Given the description of an element on the screen output the (x, y) to click on. 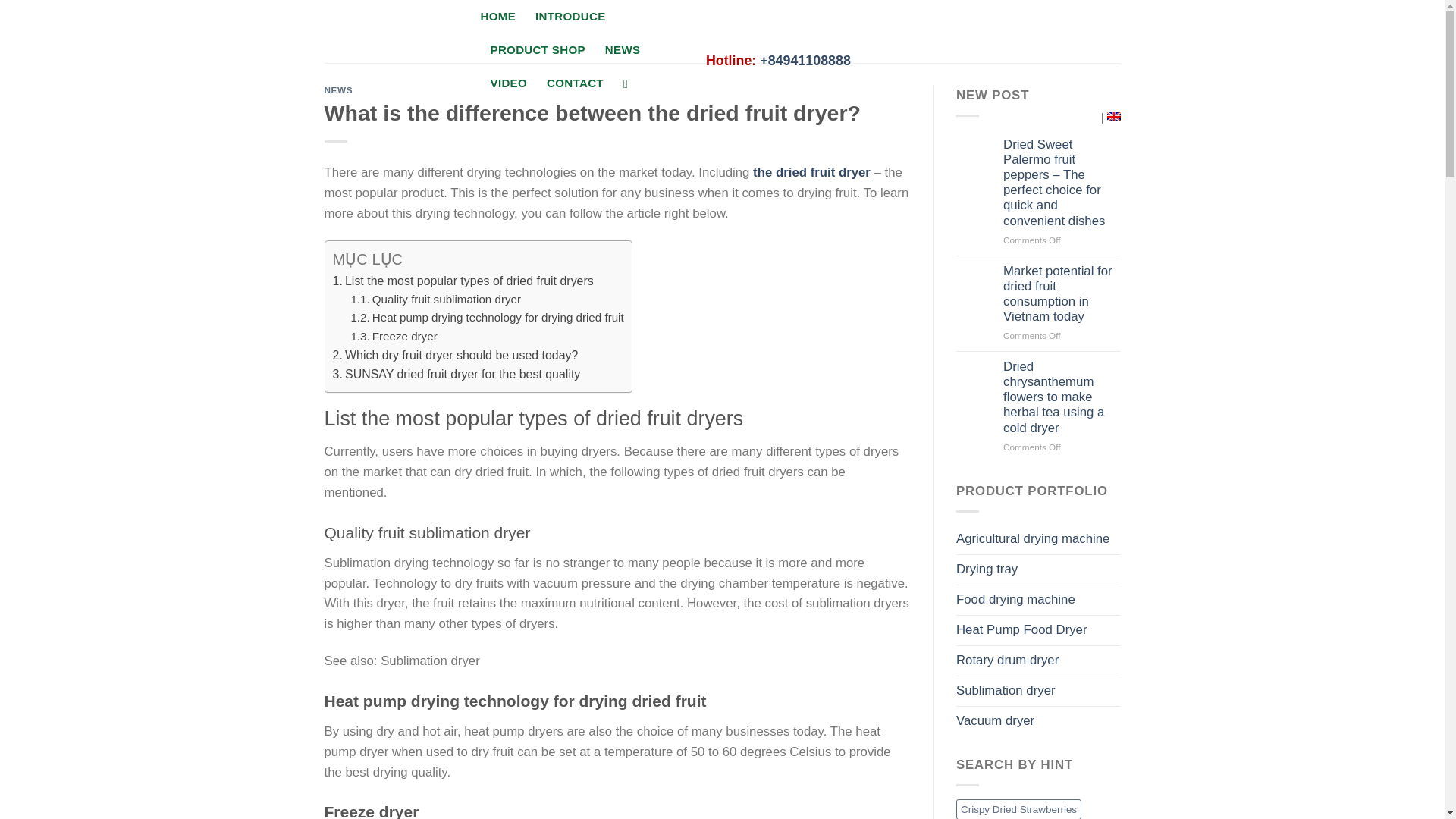
Quality fruit sublimation dryer (435, 298)
Heat pump drying technology for drying dried fruit (486, 317)
Heat pump drying technology for drying dried fruit (486, 317)
Quality fruit sublimation dryer (435, 298)
NEWS (622, 49)
HOME (498, 16)
Which dry fruit dryer should be used today? (454, 354)
SUNSAY dried fruit dryer for the best quality (455, 373)
